Given the description of an element on the screen output the (x, y) to click on. 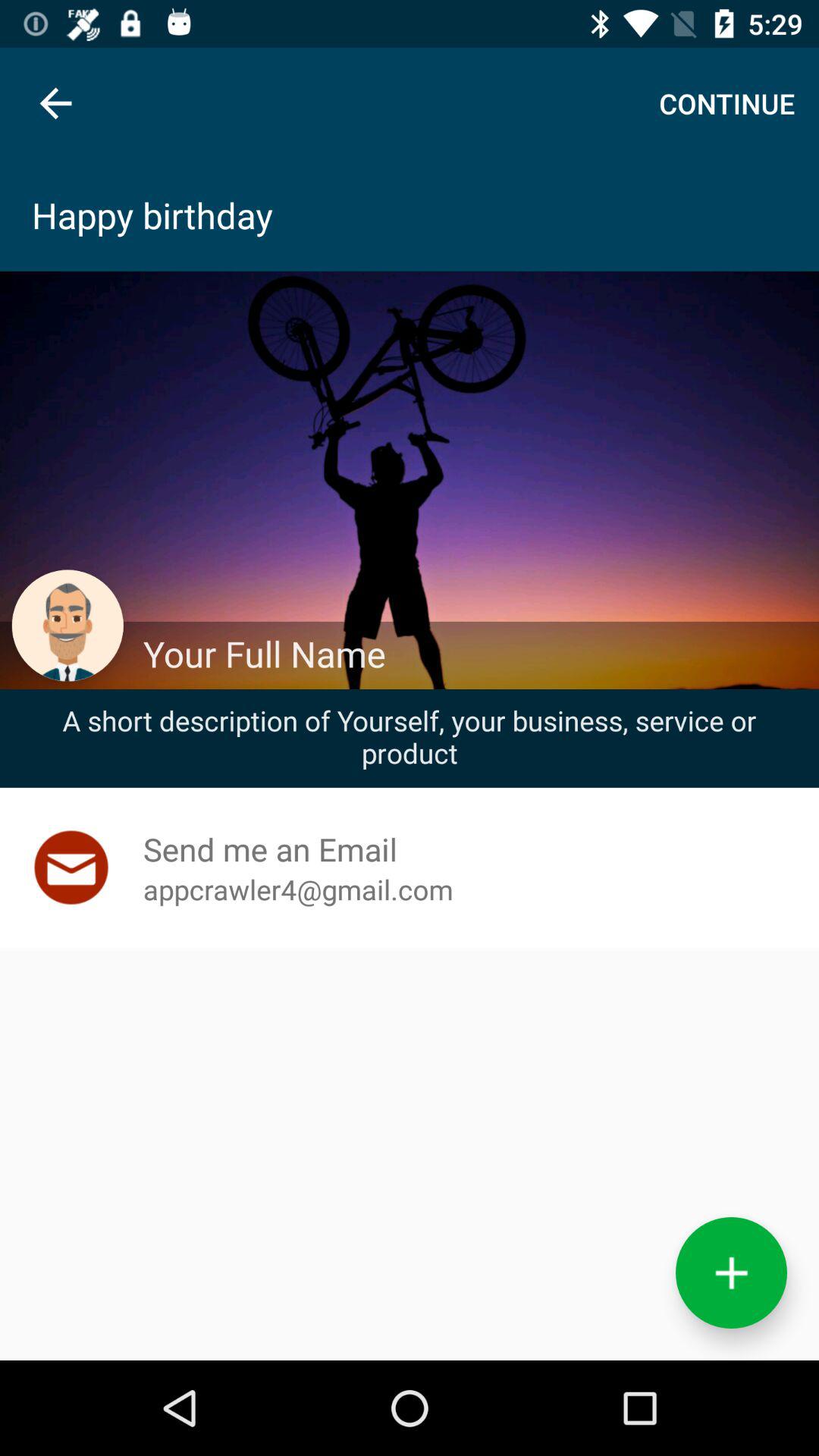
turn off the happy birthday item (409, 215)
